Given the description of an element on the screen output the (x, y) to click on. 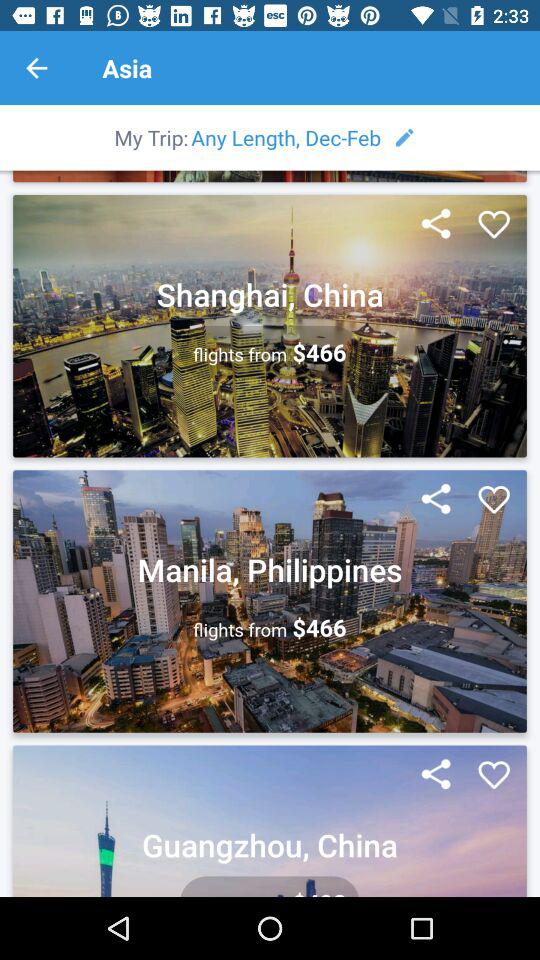
go back (36, 68)
